Given the description of an element on the screen output the (x, y) to click on. 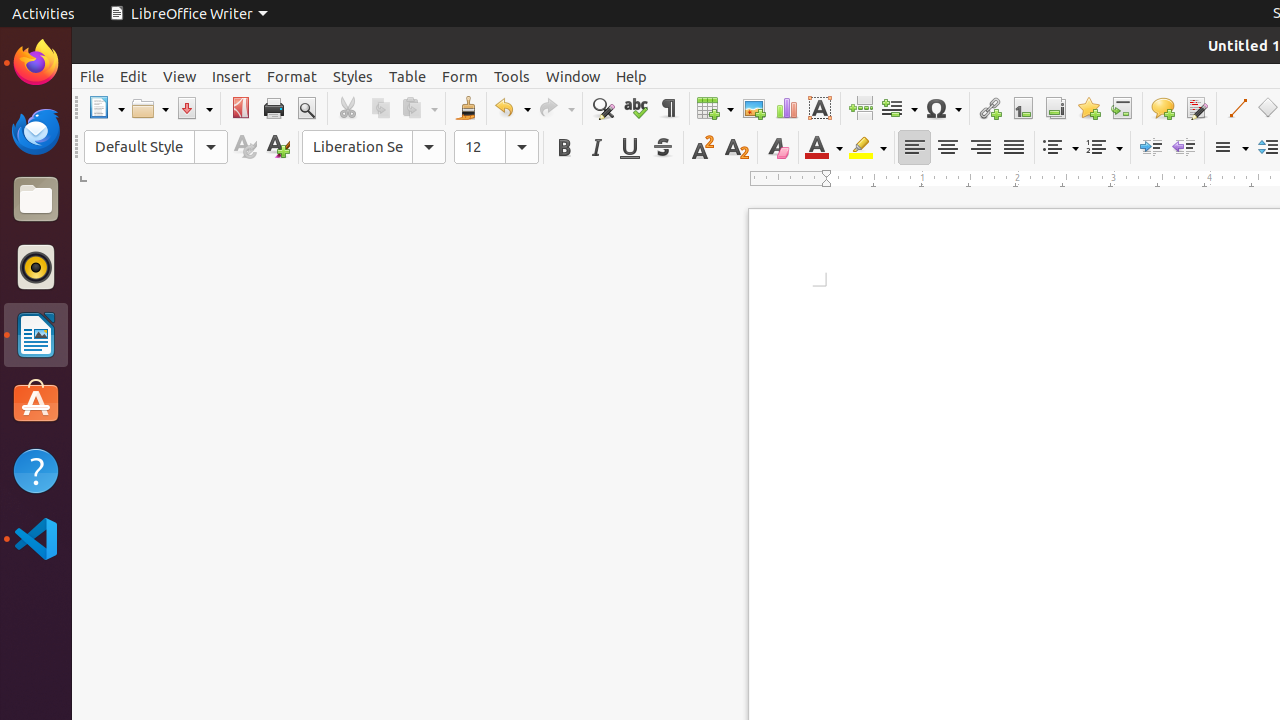
Insert Element type: menu (231, 76)
Superscript Element type: toggle-button (703, 147)
Visual Studio Code Element type: push-button (36, 538)
Comment Element type: push-button (1162, 108)
New Element type: push-button (277, 147)
